Given the description of an element on the screen output the (x, y) to click on. 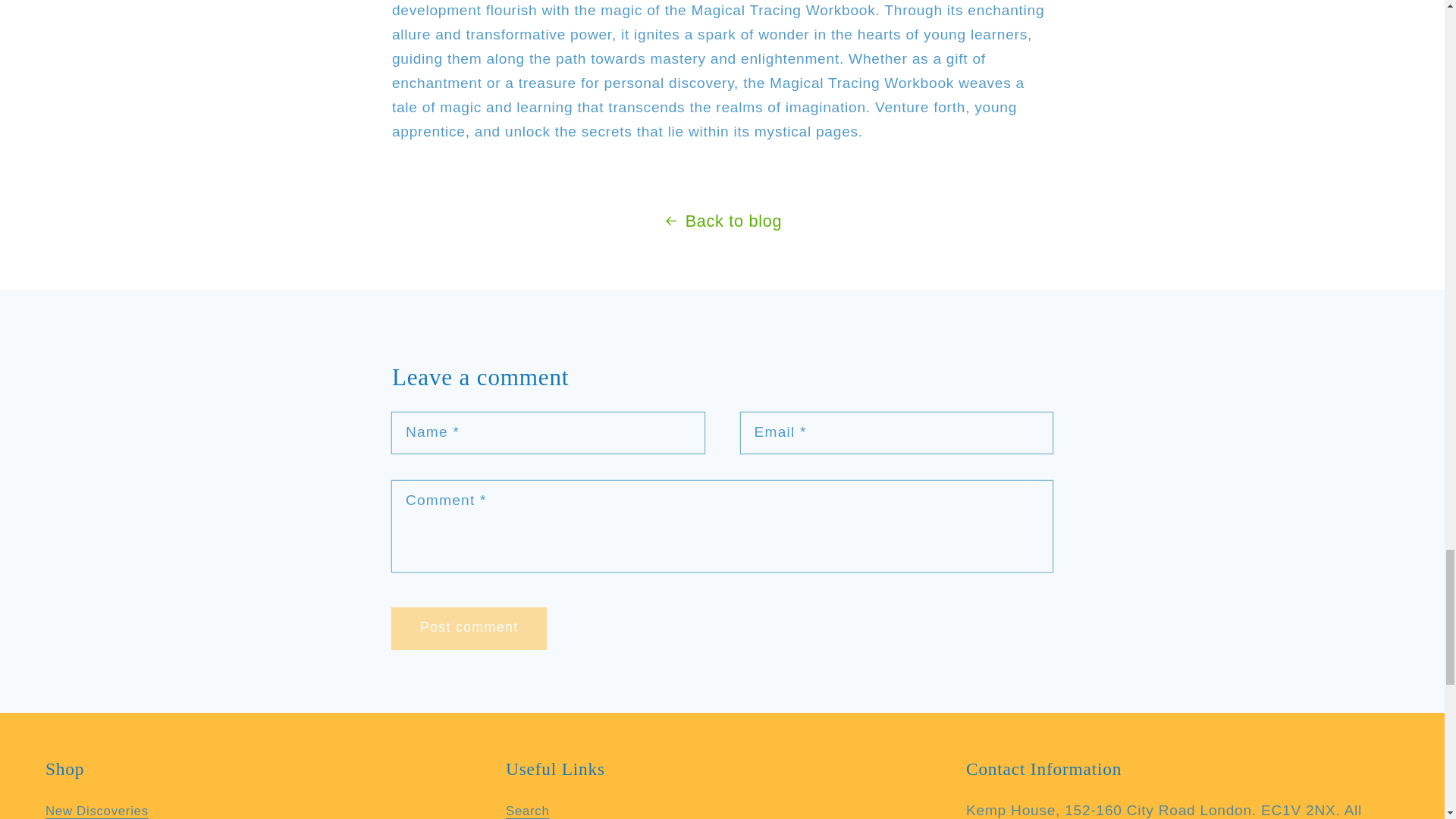
Post comment (468, 628)
